Given the description of an element on the screen output the (x, y) to click on. 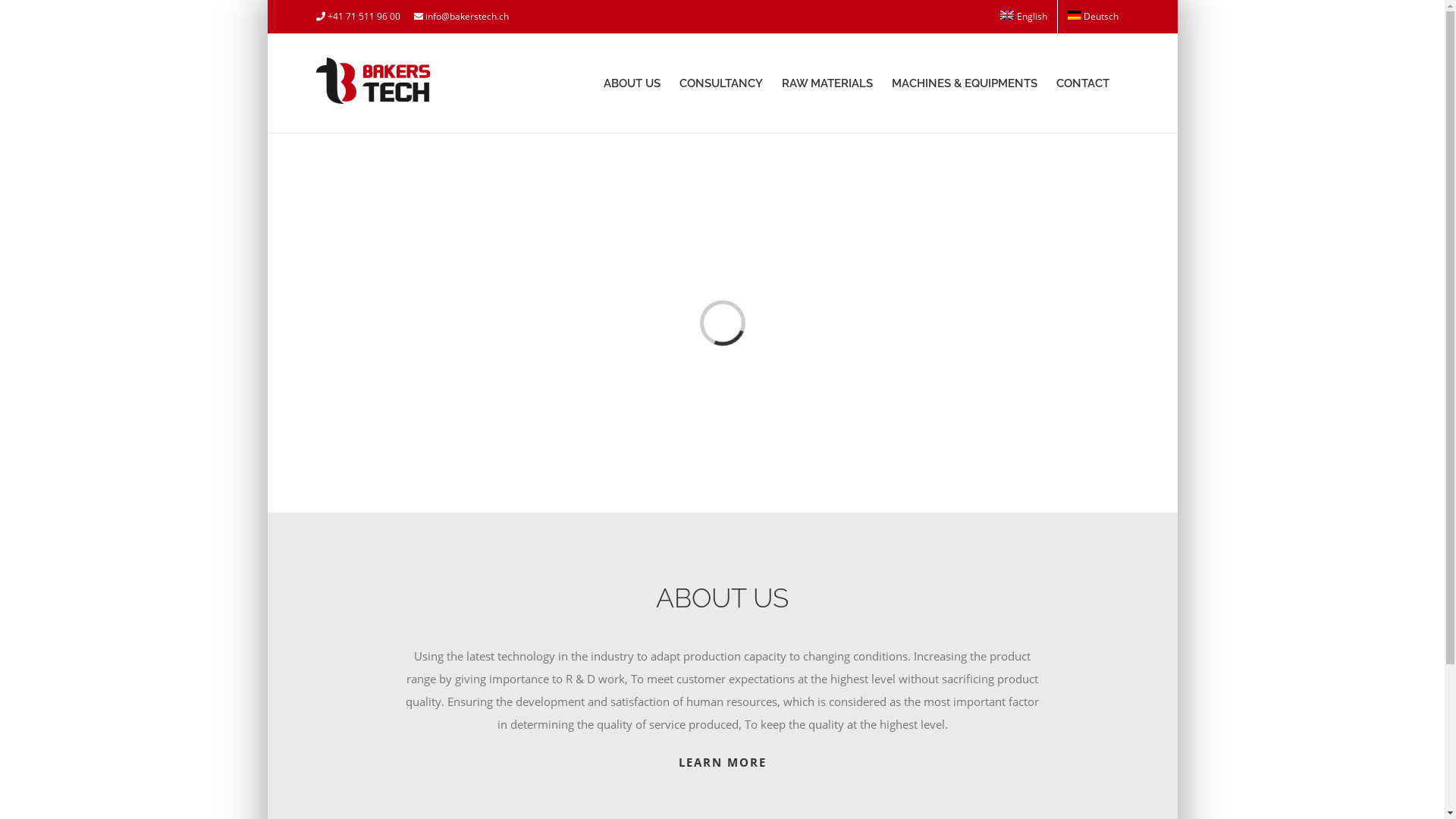
CONSULTANCY Element type: text (720, 83)
English Element type: text (1023, 16)
LEARN MORE Element type: text (721, 761)
MACHINES & EQUIPMENTS Element type: text (964, 83)
Deutsch Element type: text (1093, 16)
ABOUT US Element type: text (631, 83)
CONTACT Element type: text (1082, 83)
RAW MATERIALS Element type: text (826, 83)
